Given the description of an element on the screen output the (x, y) to click on. 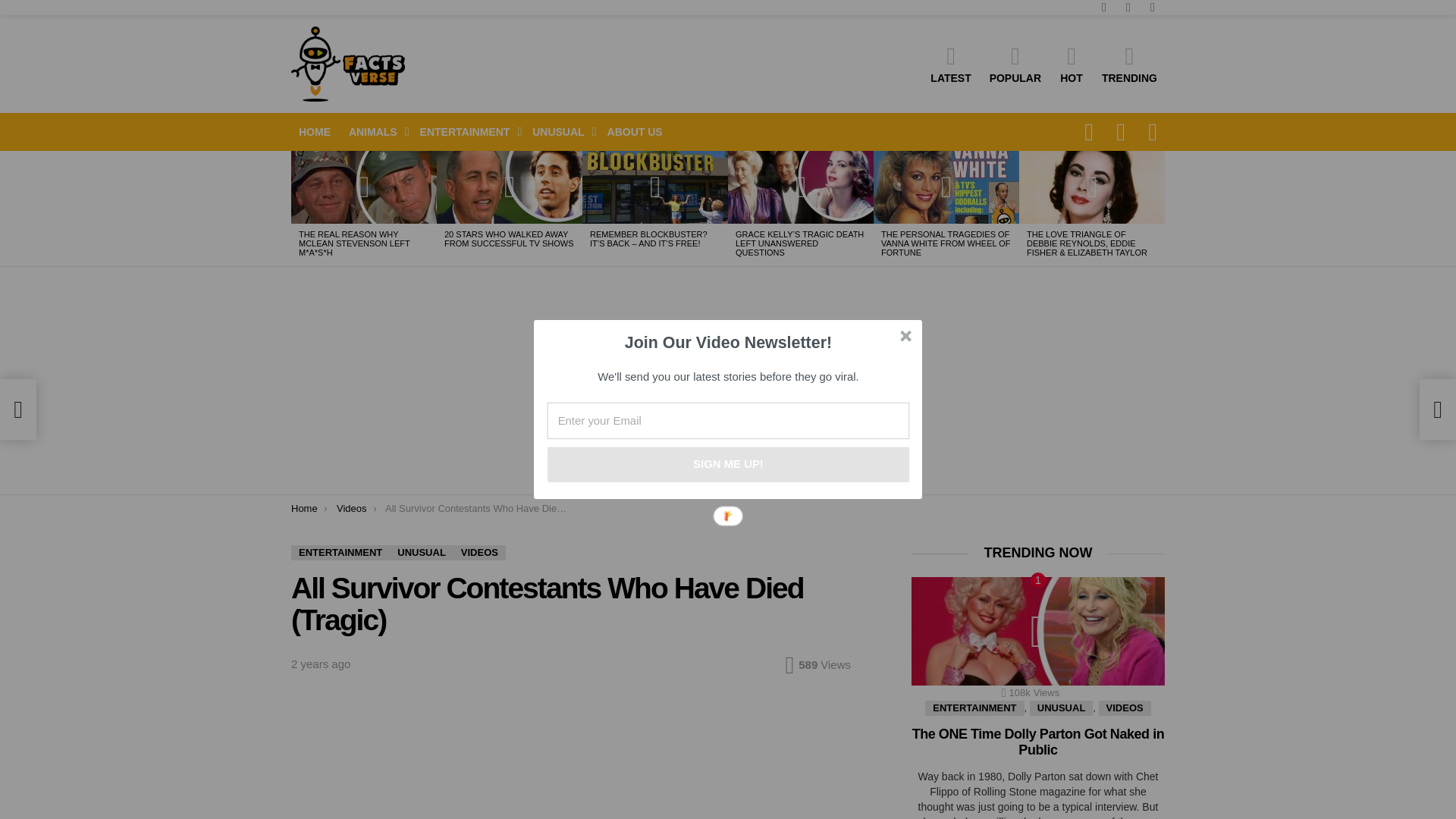
ENTERTAINMENT (467, 131)
LATEST (950, 64)
POPULAR (1014, 64)
YouTube (1104, 7)
TRENDING (1129, 64)
HOT (1070, 64)
Facebook (1128, 7)
HOME (314, 131)
ANIMALS (374, 131)
Twitter (1152, 7)
